Given the description of an element on the screen output the (x, y) to click on. 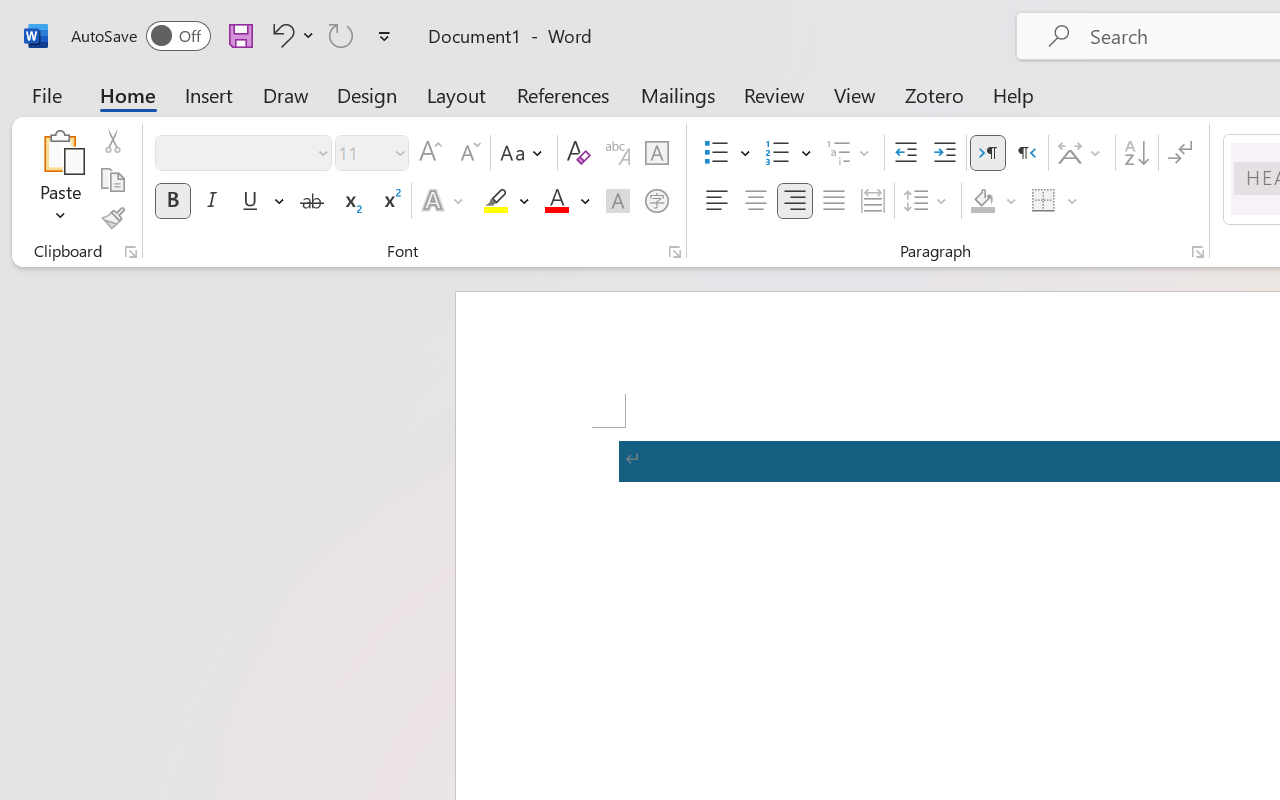
Shading No Color (982, 201)
